Given the description of an element on the screen output the (x, y) to click on. 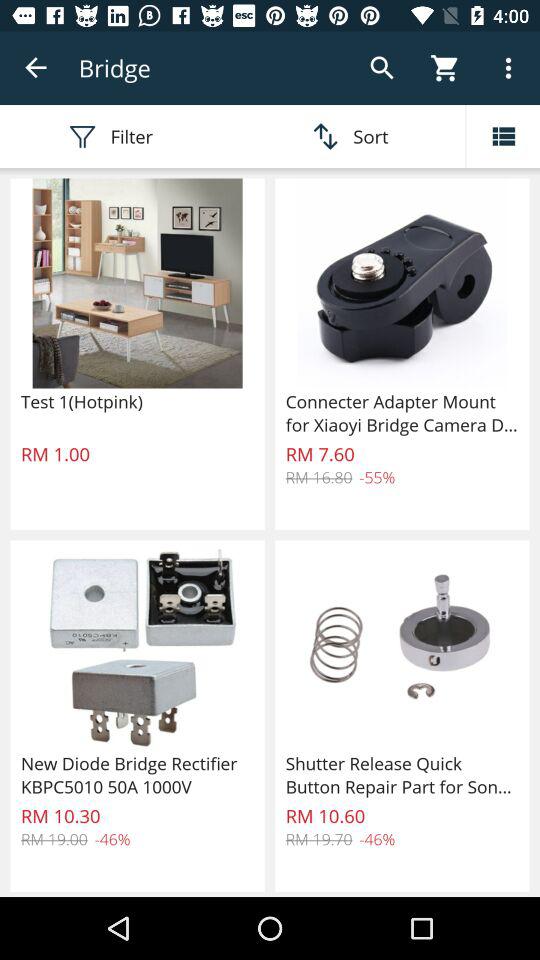
turn on the app to the left of the bridge (36, 68)
